Given the description of an element on the screen output the (x, y) to click on. 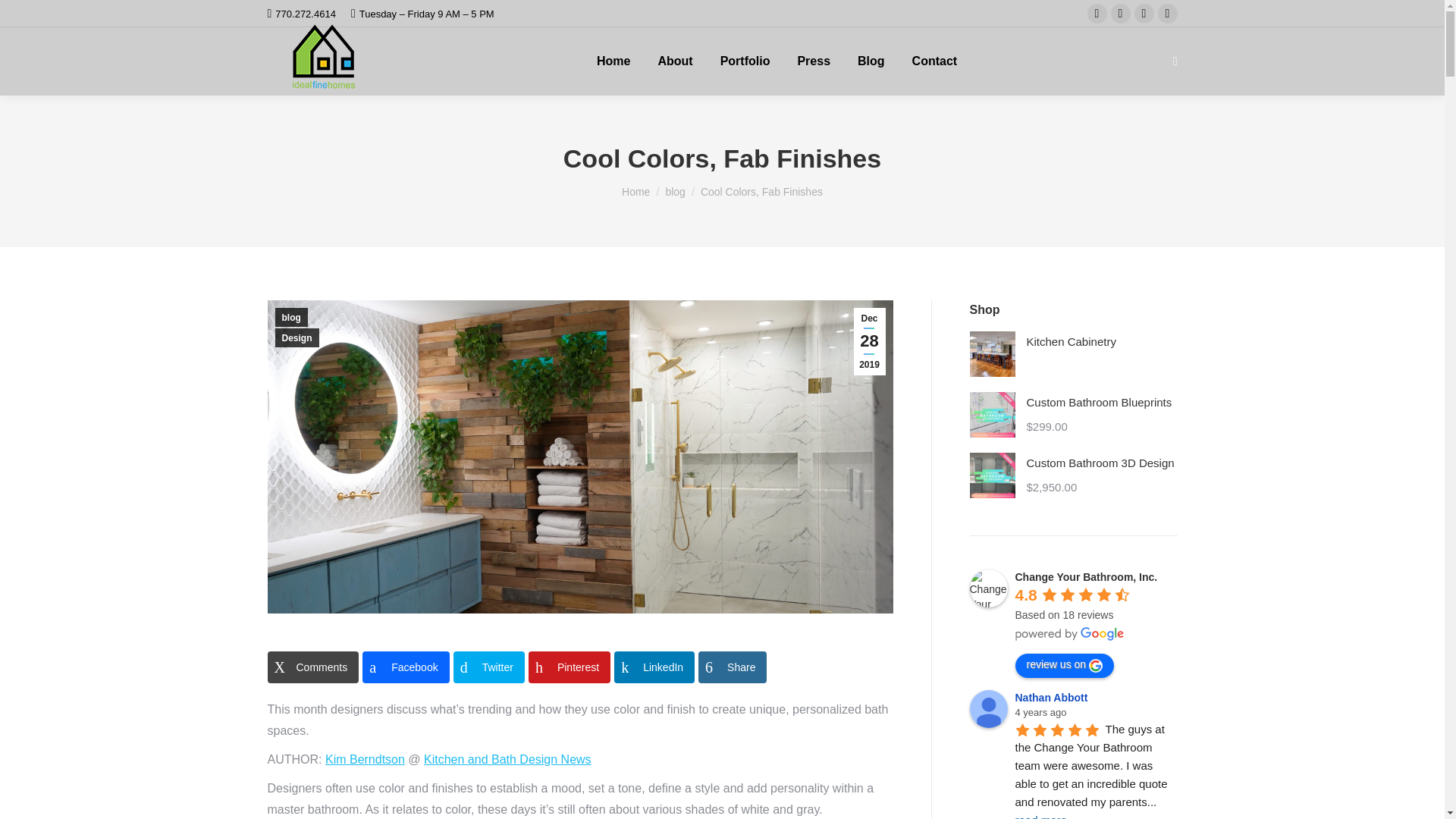
Home (613, 60)
Facebook page opens in new window (1096, 13)
Instagram page opens in new window (1144, 13)
Portfolio (745, 60)
X page opens in new window (1120, 13)
Facebook page opens in new window (1096, 13)
Press (812, 60)
About (674, 60)
X page opens in new window (1120, 13)
YouTube page opens in new window (1167, 13)
Go! (24, 16)
Home (635, 191)
Contact (934, 60)
YouTube page opens in new window (1167, 13)
Instagram page opens in new window (1144, 13)
